Given the description of an element on the screen output the (x, y) to click on. 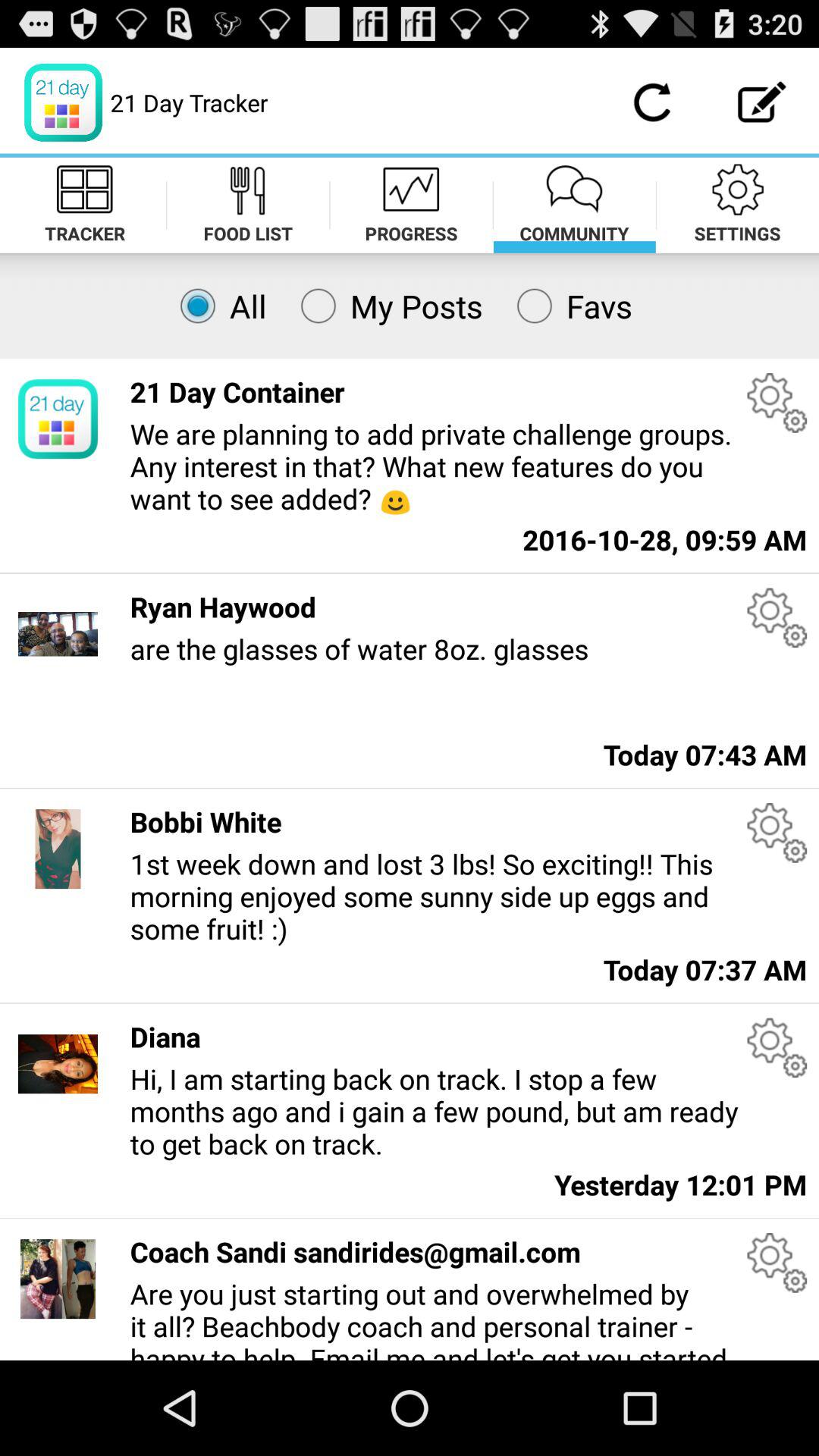
community post user settings (777, 1262)
